Given the description of an element on the screen output the (x, y) to click on. 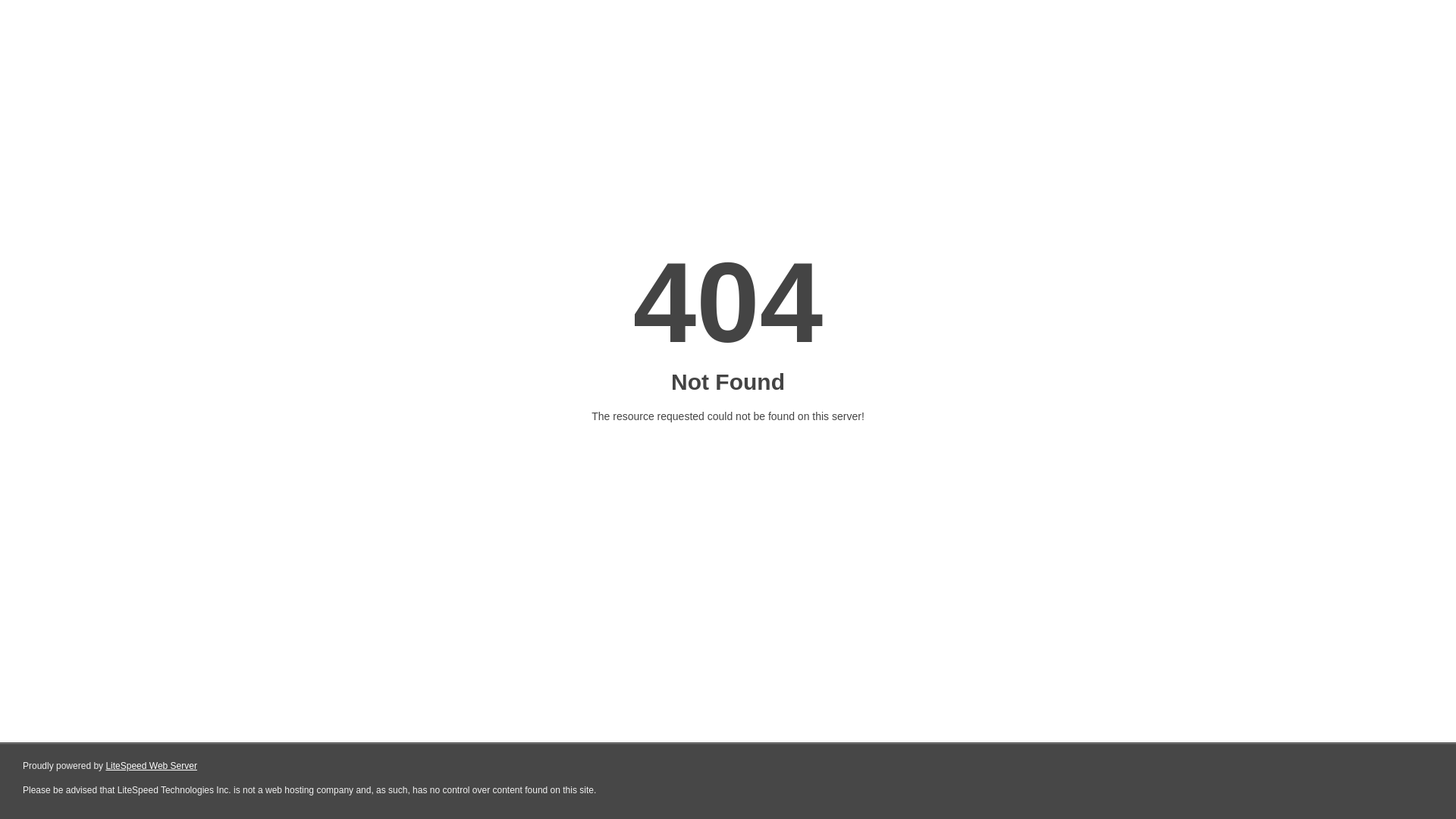
LiteSpeed Web Server Element type: text (151, 765)
